Given the description of an element on the screen output the (x, y) to click on. 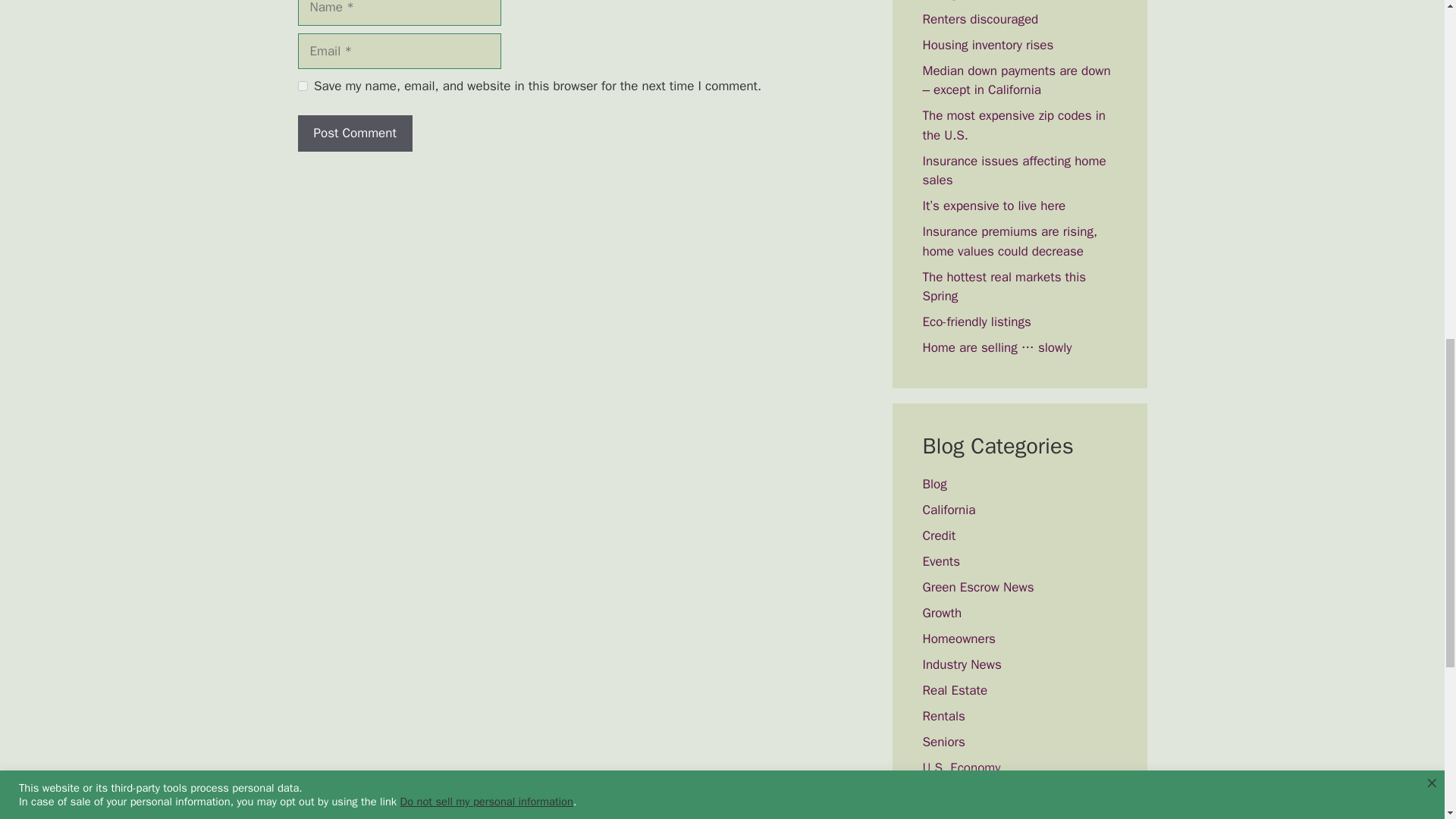
Post Comment (354, 133)
Scroll back to top (1406, 720)
Post Comment (354, 133)
yes (302, 85)
